Given the description of an element on the screen output the (x, y) to click on. 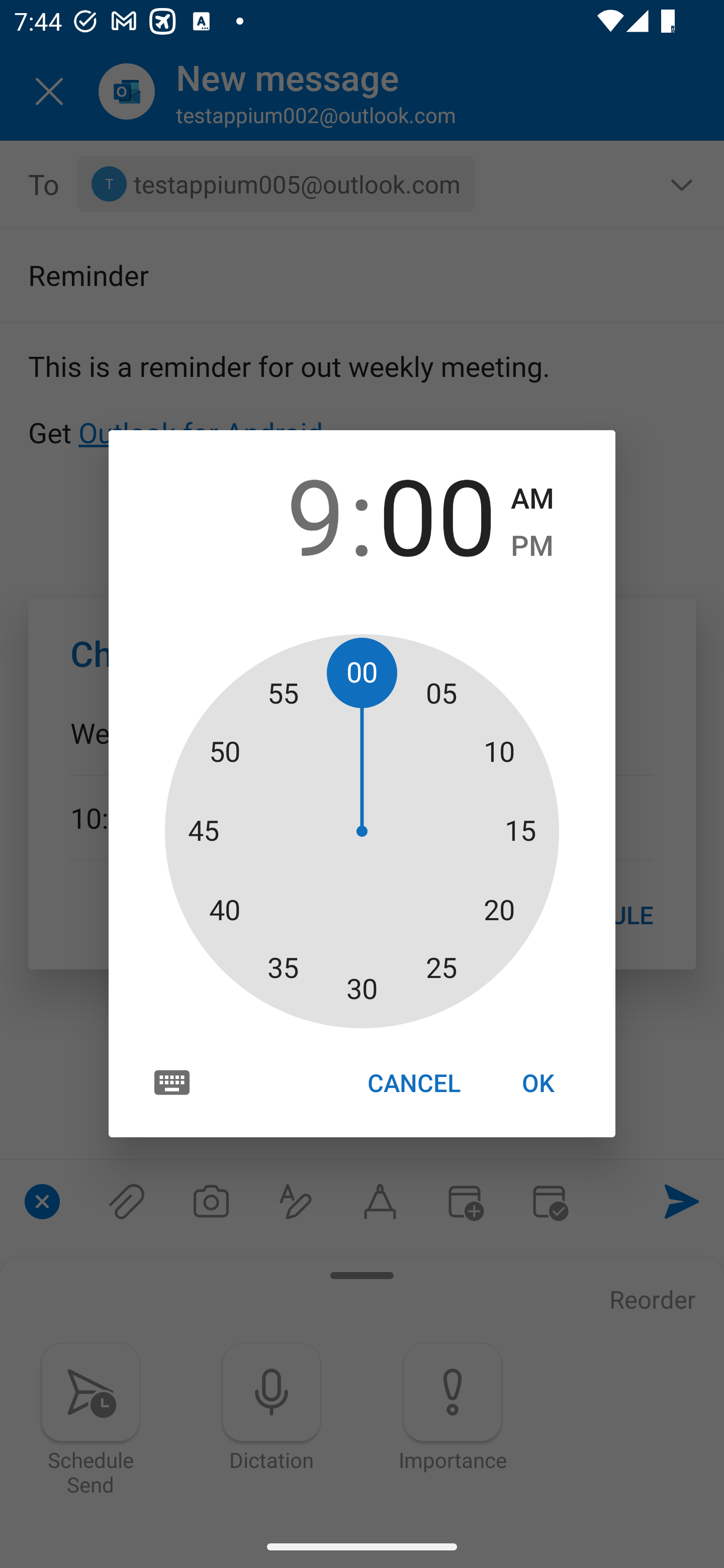
9 (285, 513)
00 (436, 513)
AM (532, 498)
PM (532, 546)
CANCEL (413, 1082)
OK (537, 1082)
Switch to text input mode for the time input. (171, 1081)
